Given the description of an element on the screen output the (x, y) to click on. 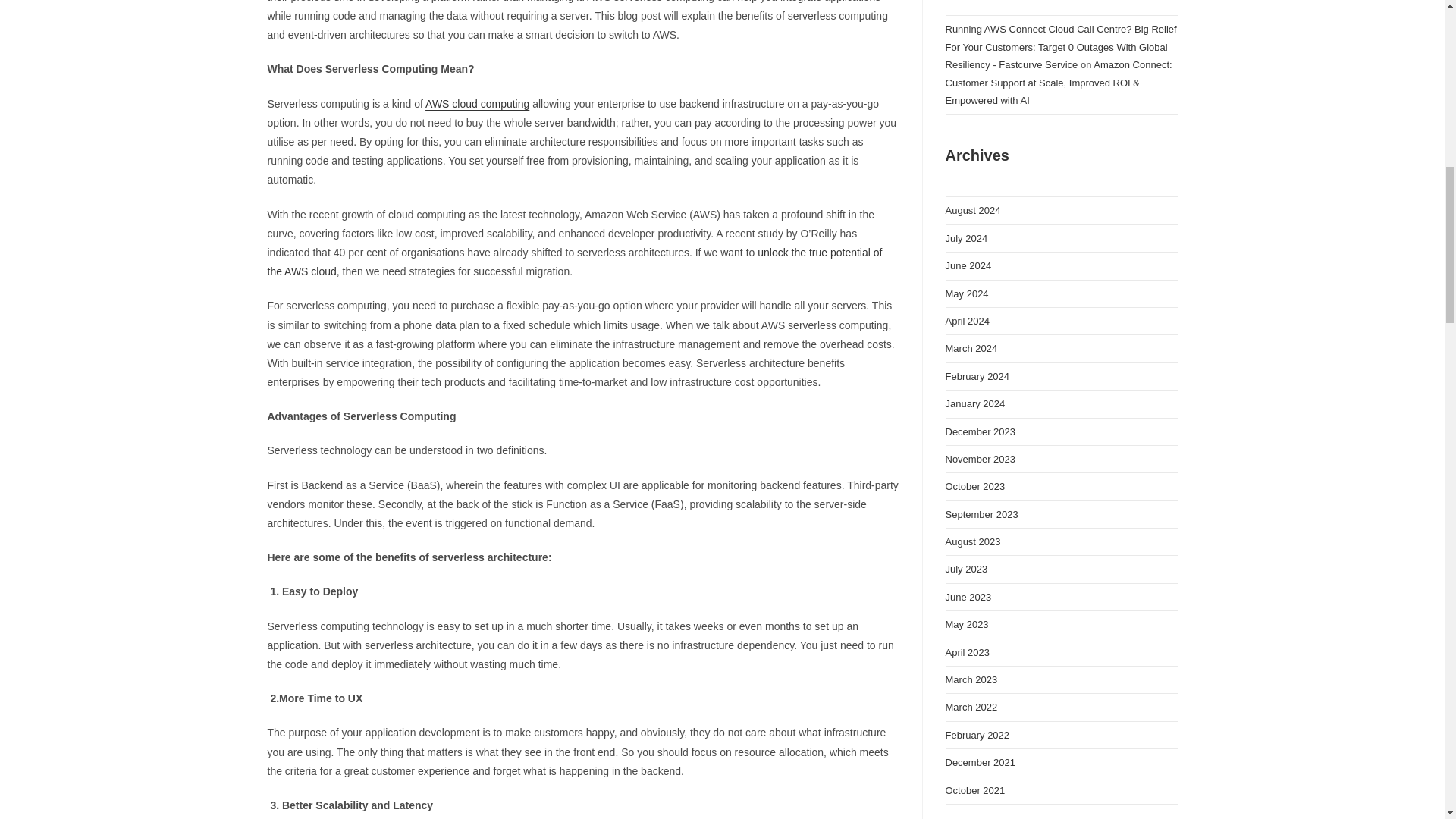
unlock the true potential of the AWS cloud (574, 261)
The Five Pillars of a Cargowise Robust Health Check (1060, 5)
AWS cloud computing (477, 103)
